Given the description of an element on the screen output the (x, y) to click on. 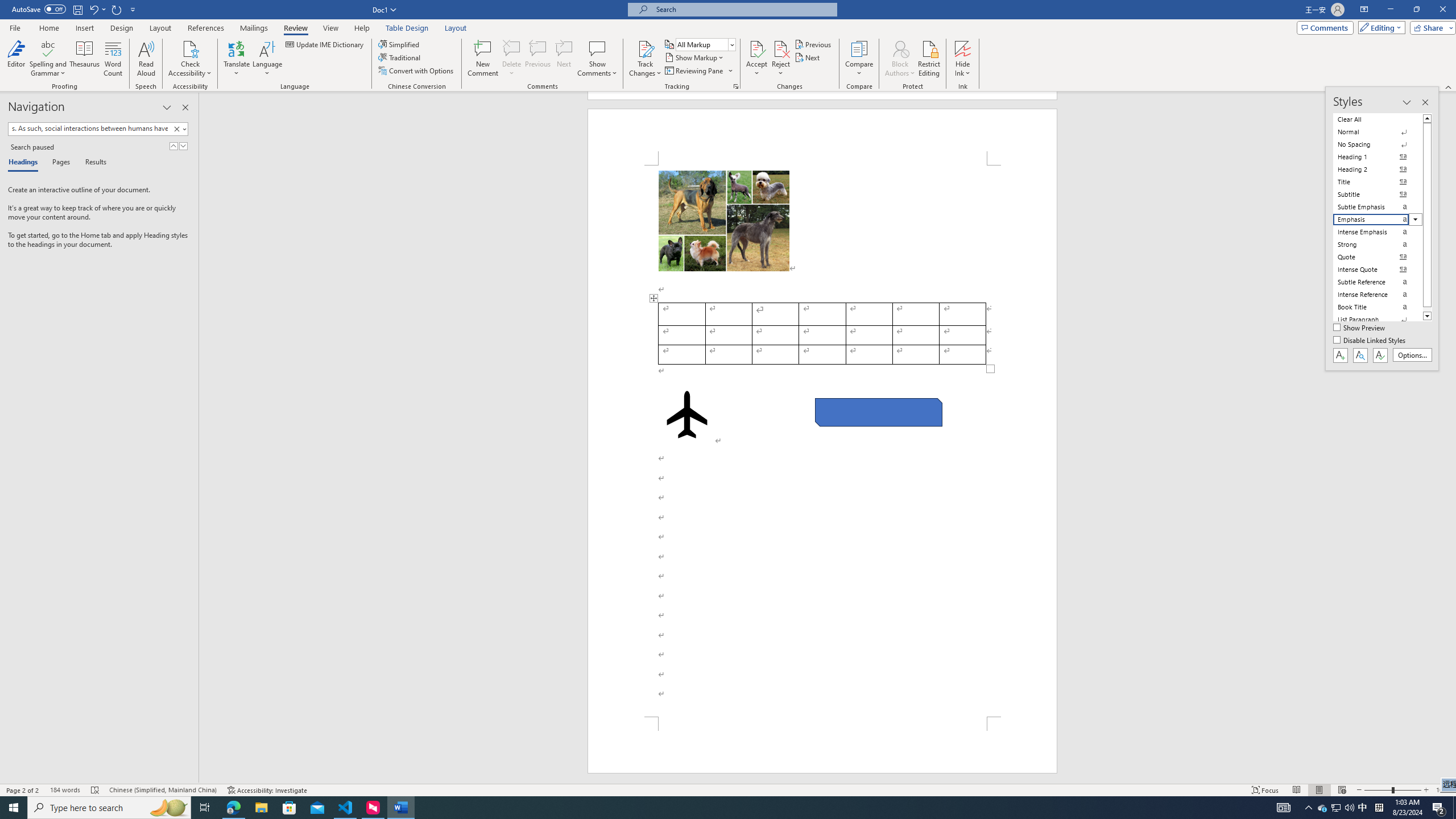
Reject and Move to Next (780, 48)
Emphasis (1377, 219)
Page 2 content (822, 440)
Repeat Style (117, 9)
Clear (176, 128)
Show Comments (597, 48)
Next (808, 56)
Quote (1377, 256)
Hide Ink (962, 58)
